Given the description of an element on the screen output the (x, y) to click on. 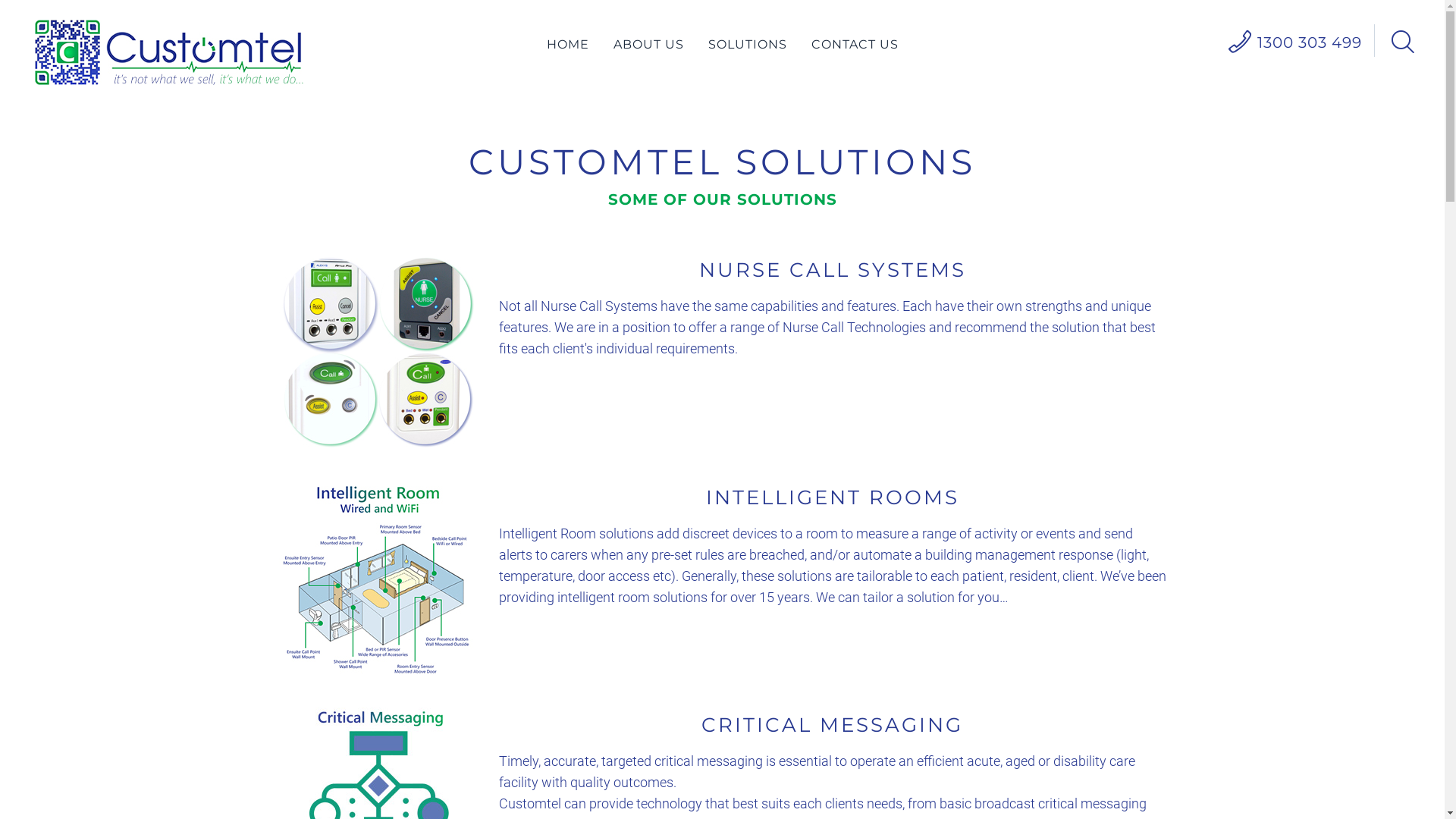
ABOUT US Element type: text (650, 44)
SOLUTIONS Element type: text (749, 44)
NURSE CALL SYSTEMS Element type: text (832, 269)
1300 303 499 Element type: text (1309, 42)
CRITICAL MESSAGING Element type: text (832, 724)
CONTACT US Element type: text (854, 44)
INTELLIGENT ROOMS Element type: text (831, 497)
HOME Element type: text (569, 44)
